Given the description of an element on the screen output the (x, y) to click on. 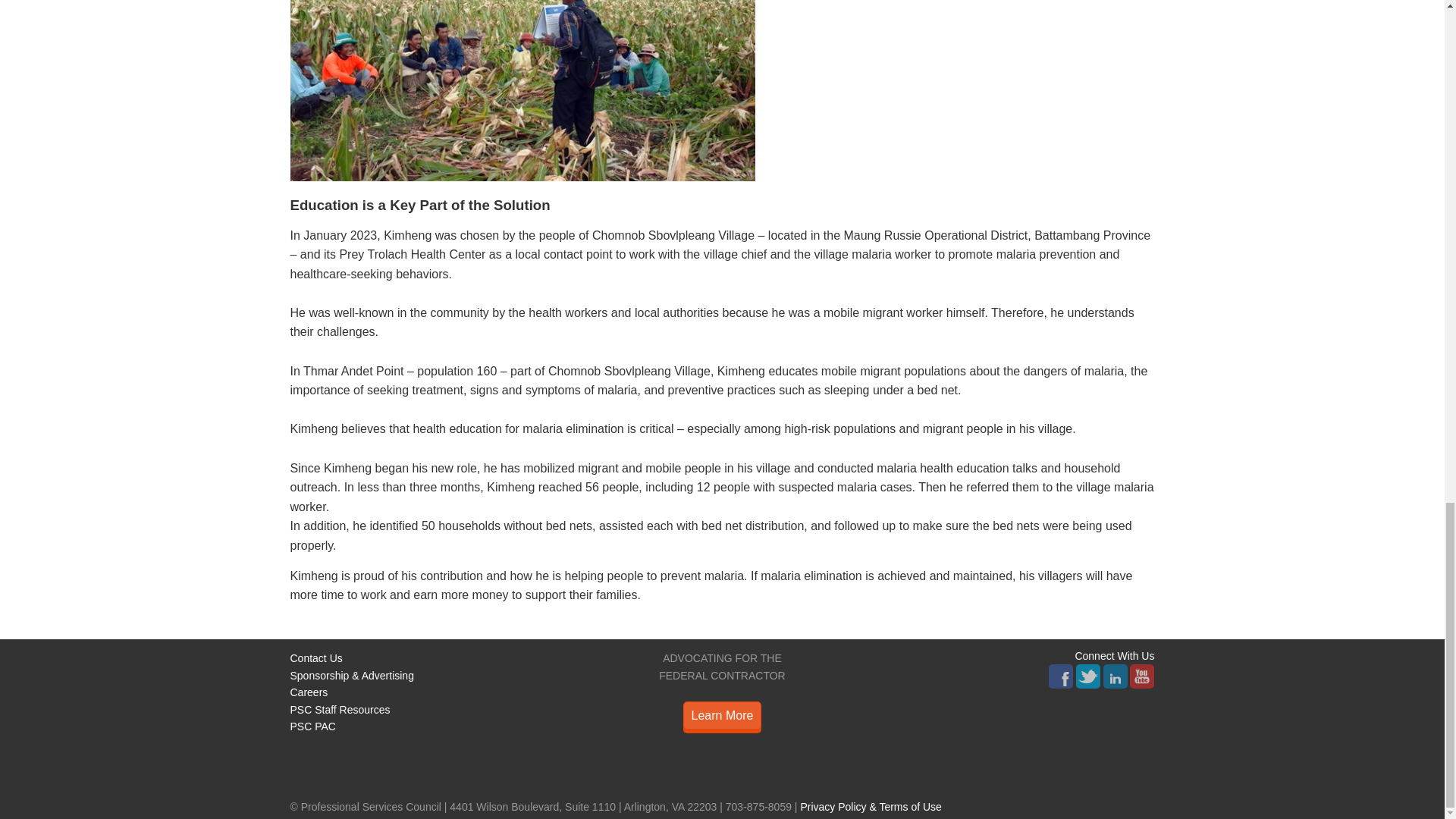
Visit our LinkedIn page (1114, 672)
Visit our Facebook page (1060, 672)
Visit our Twitter page (1087, 672)
Visit our YouTube channel (1141, 672)
